Given the description of an element on the screen output the (x, y) to click on. 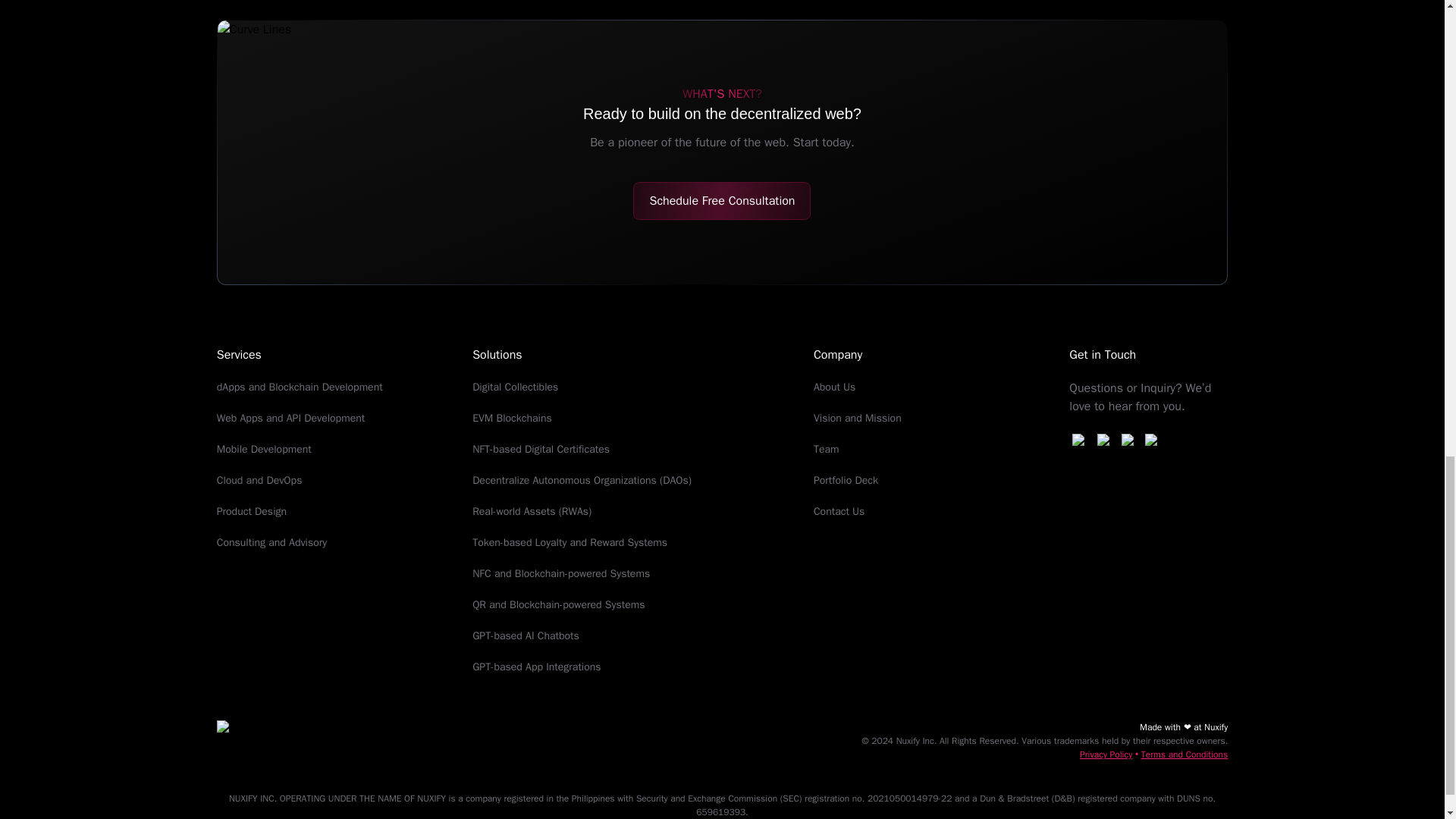
Mobile Development (263, 449)
Contact Us (838, 511)
GPT-based AI Chatbots (525, 635)
Consulting and Advisory (271, 542)
QR and Blockchain-powered Systems (558, 604)
Digital Collectibles (514, 386)
Schedule Free Consultation (721, 200)
Privacy Policy (1106, 754)
Product Design (251, 511)
GPT-based App Integrations (535, 666)
